Given the description of an element on the screen output the (x, y) to click on. 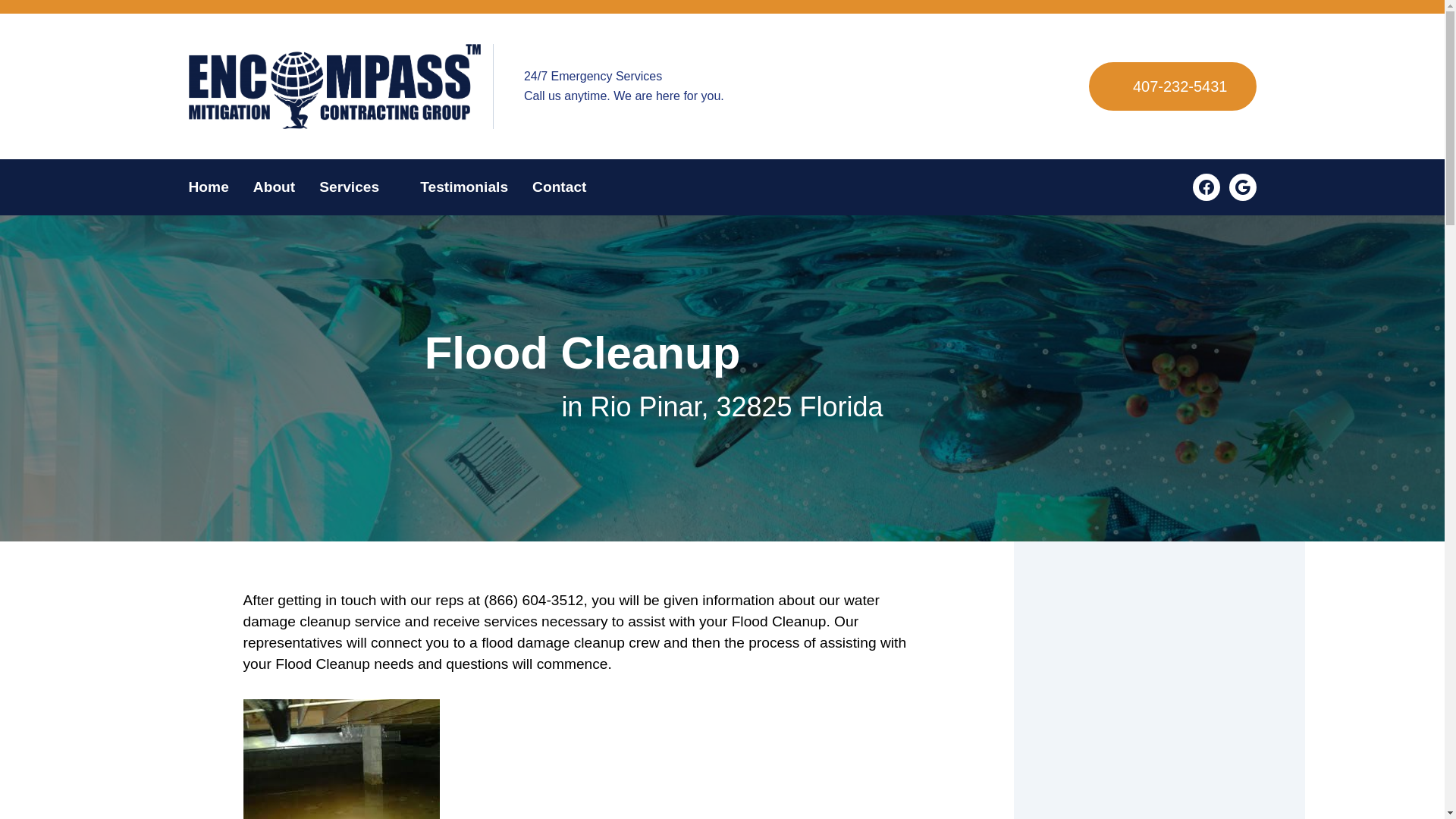
Google (1241, 186)
Home (213, 186)
Encompass Mitigation and Contracting Group, LLC. (333, 86)
About (274, 186)
Services (357, 186)
Facebook (1206, 186)
Testimonials (463, 186)
407-232-5431 (1172, 86)
Contact (552, 186)
